Given the description of an element on the screen output the (x, y) to click on. 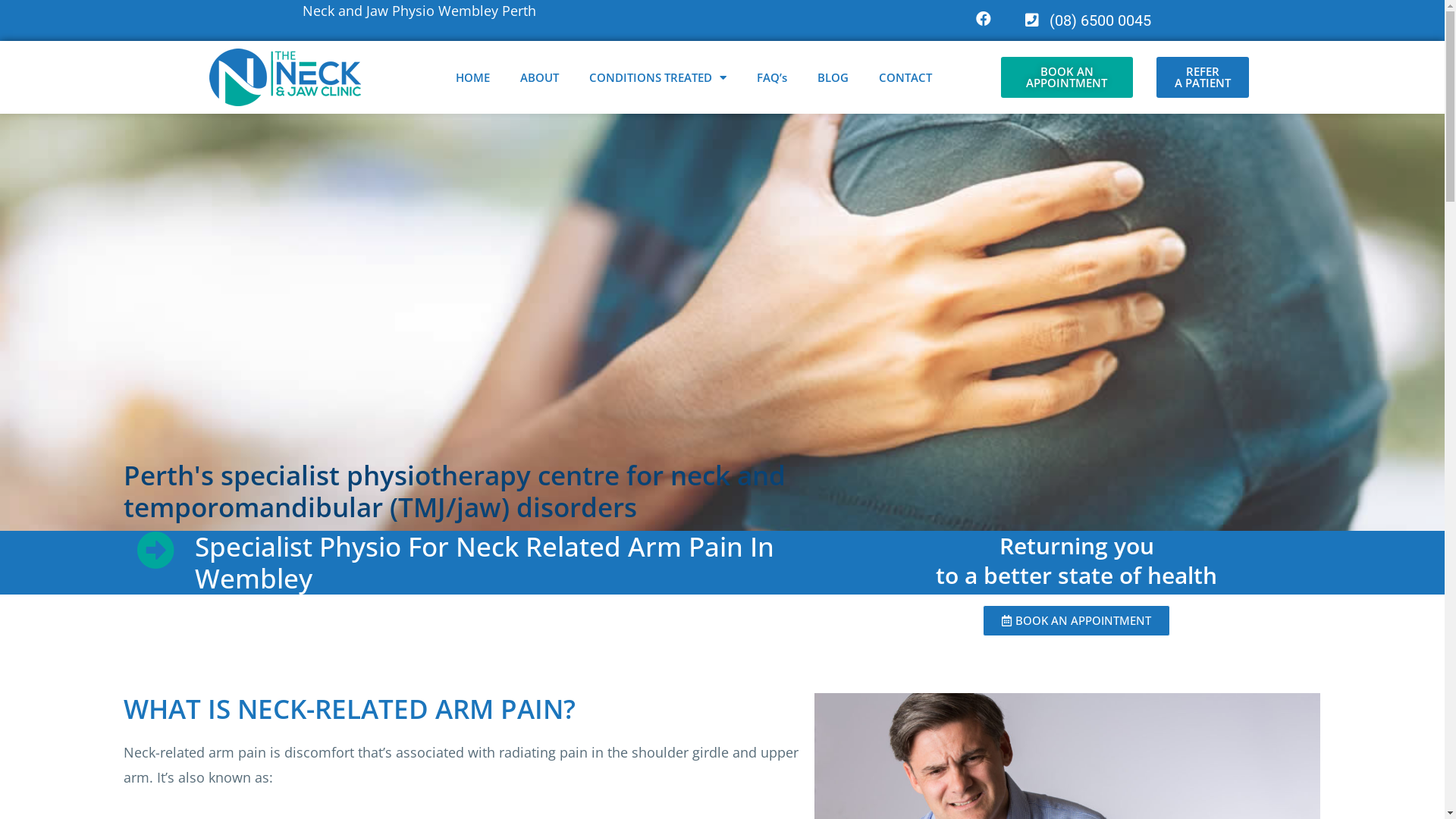
CONTACT Element type: text (905, 77)
Facebook Element type: text (982, 18)
BOOK AN APPOINTMENT Element type: text (1076, 620)
ABOUT Element type: text (539, 77)
(08) 6500 0045 Element type: text (1088, 20)
REFER
A PATIENT Element type: text (1202, 76)
CONDITIONS TREATED Element type: text (657, 77)
HOME Element type: text (472, 77)
BOOK AN APPOINTMENT Element type: text (1067, 76)
BLOG Element type: text (832, 77)
